Given the description of an element on the screen output the (x, y) to click on. 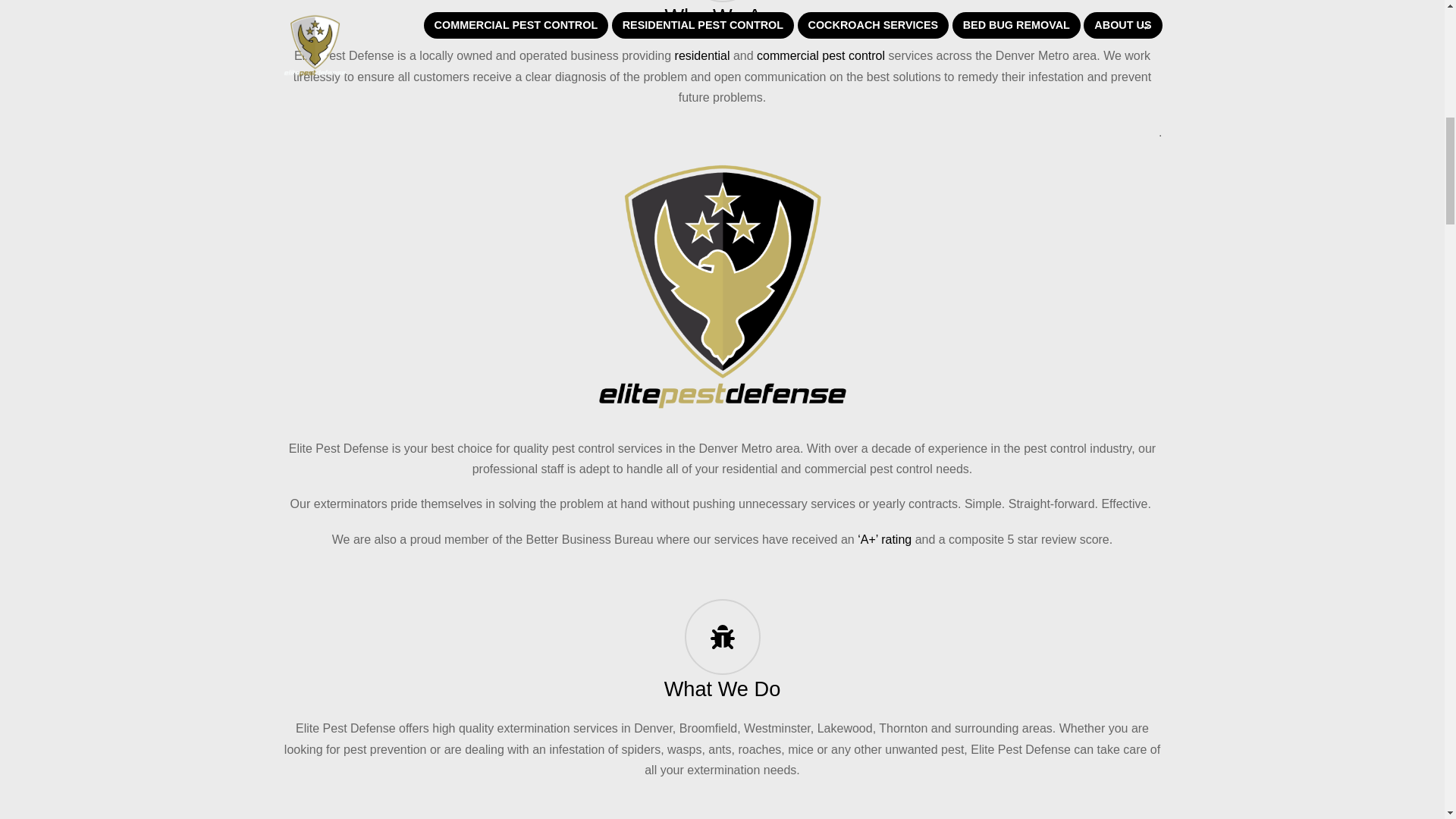
residential (702, 55)
Home Copy (721, 286)
commercial pest control (821, 55)
